Given the description of an element on the screen output the (x, y) to click on. 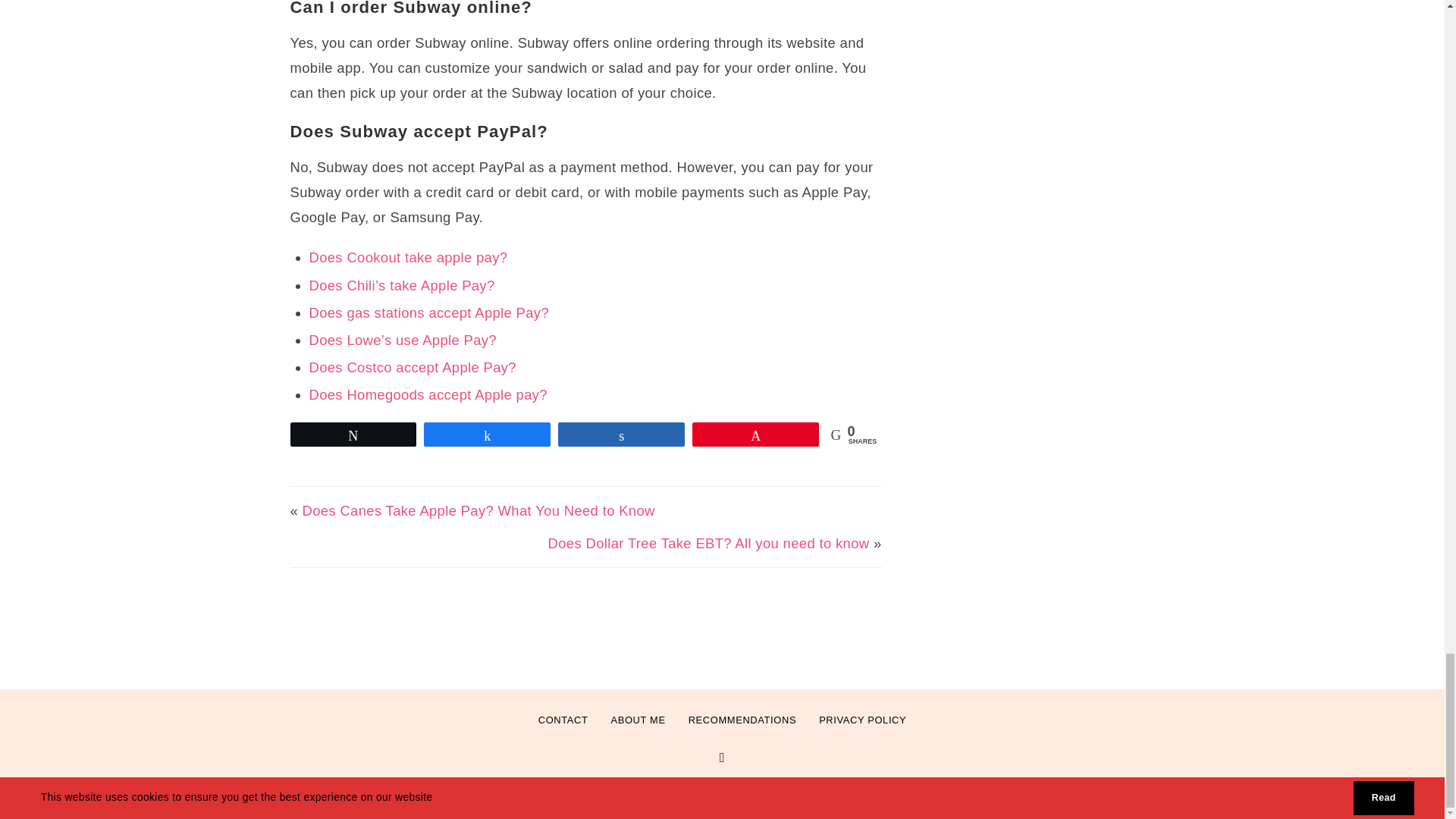
RECOMMENDATIONS (742, 720)
Does Costco accept Apple Pay? (412, 367)
Does Canes Take Apple Pay? What You Need to Know (478, 510)
Does Homegoods accept Apple pay? (427, 394)
ABOUT ME (637, 720)
Does gas stations accept Apple Pay? (429, 312)
Does Dollar Tree Take EBT? All you need to know (708, 543)
AIMINGTHEDREAMS (686, 790)
CONTACT (563, 720)
Does Cookout take apple pay? (408, 257)
